Given the description of an element on the screen output the (x, y) to click on. 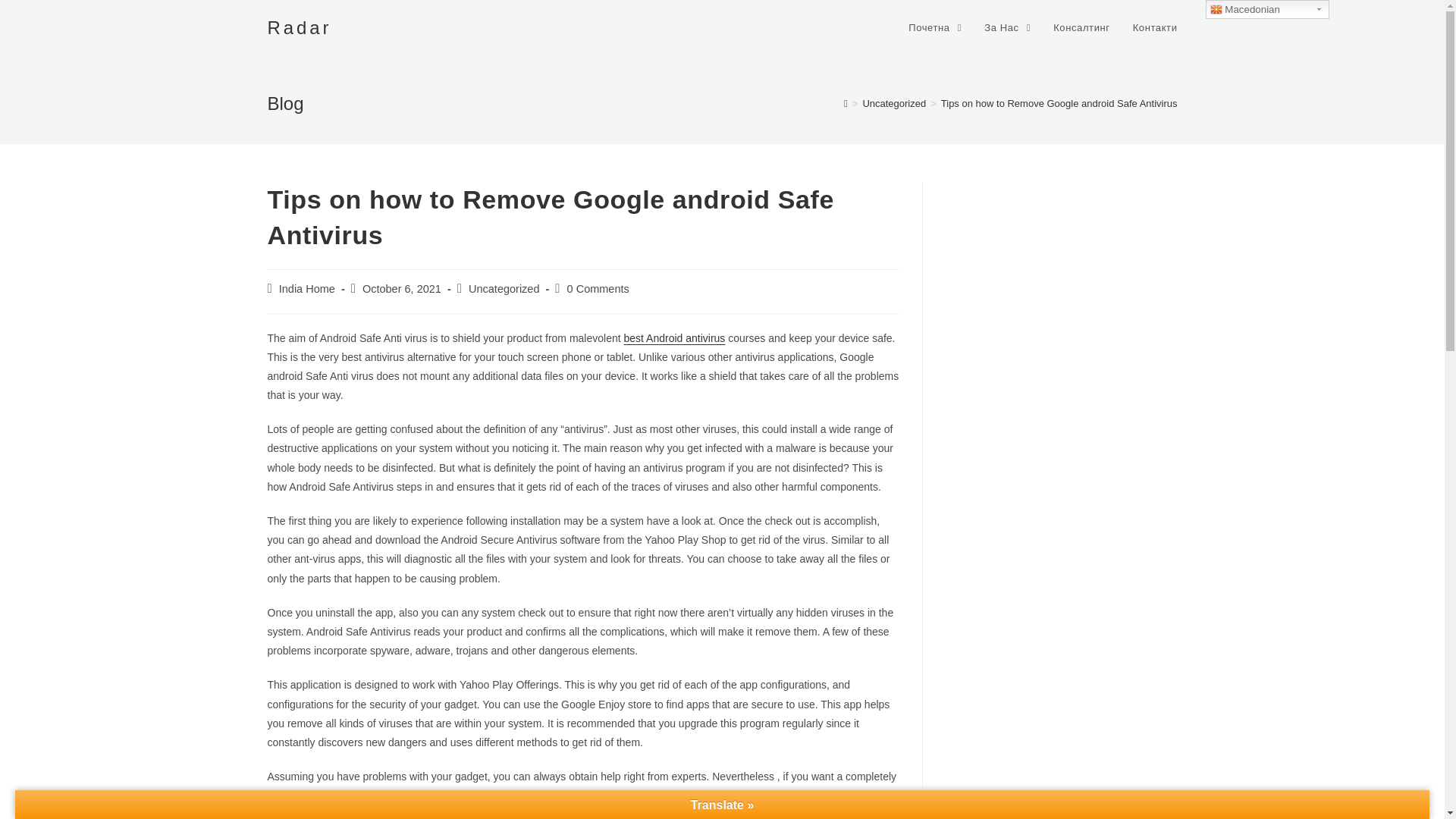
0 Comments (597, 288)
India Home (306, 288)
Posts by India Home (306, 288)
Radar (298, 27)
Tips on how to Remove Google android Safe Antivirus (1058, 102)
Macedonian (1267, 9)
Uncategorized (504, 288)
Uncategorized (893, 102)
best Android antivirus (674, 337)
